Given the description of an element on the screen output the (x, y) to click on. 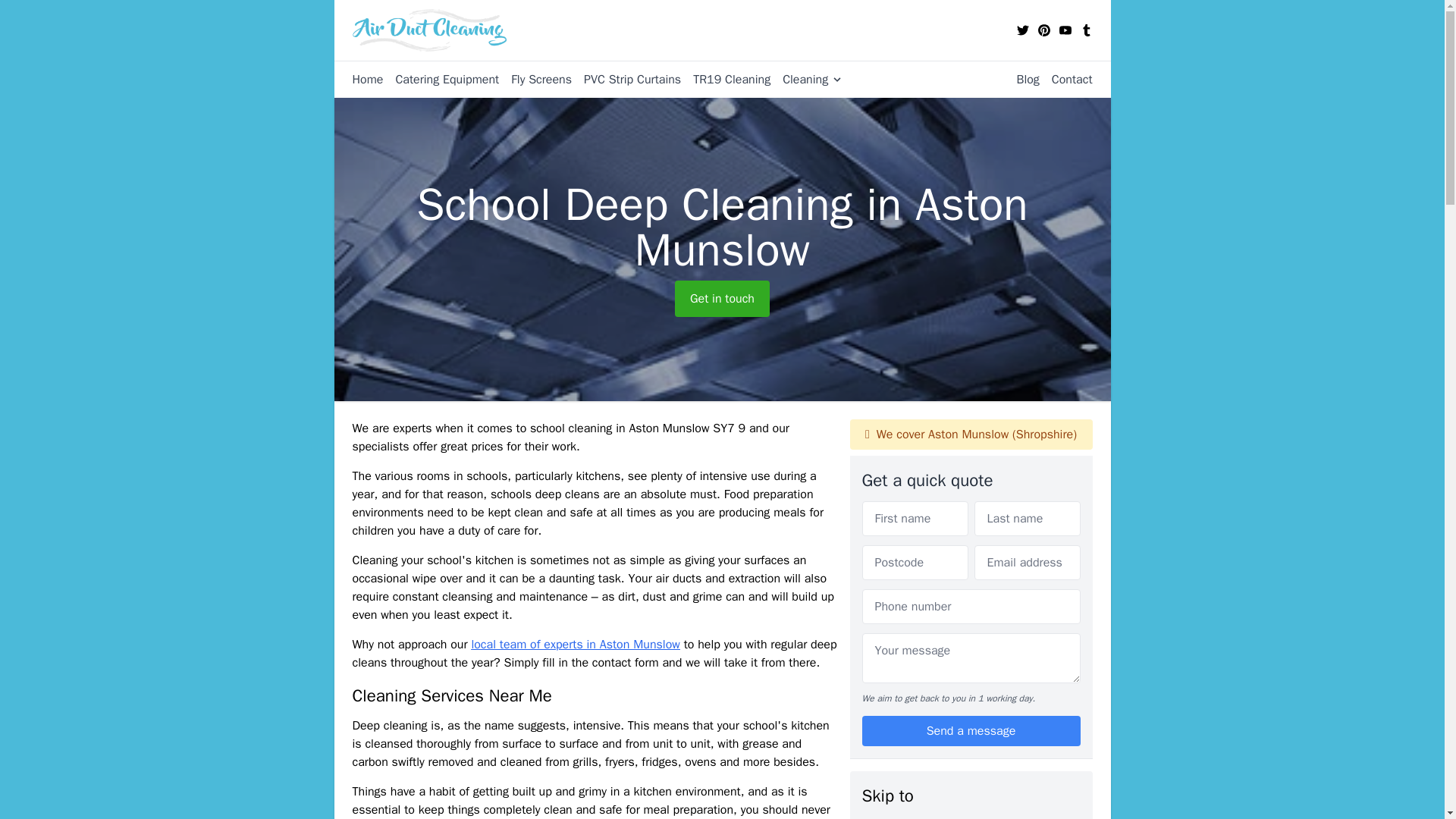
Send a message (970, 730)
Home (367, 79)
Catering Equipment (440, 79)
Blog (1021, 79)
Cleaning (806, 79)
Contact (1066, 79)
Cleaning Services Near Me (932, 818)
local team of experts in Aston Munslow (574, 644)
PVC Strip Curtains (626, 79)
TR19 Cleaning (725, 79)
Get in touch (722, 298)
Cleaning Services Near Me (932, 818)
Fly Screens (535, 79)
